Given the description of an element on the screen output the (x, y) to click on. 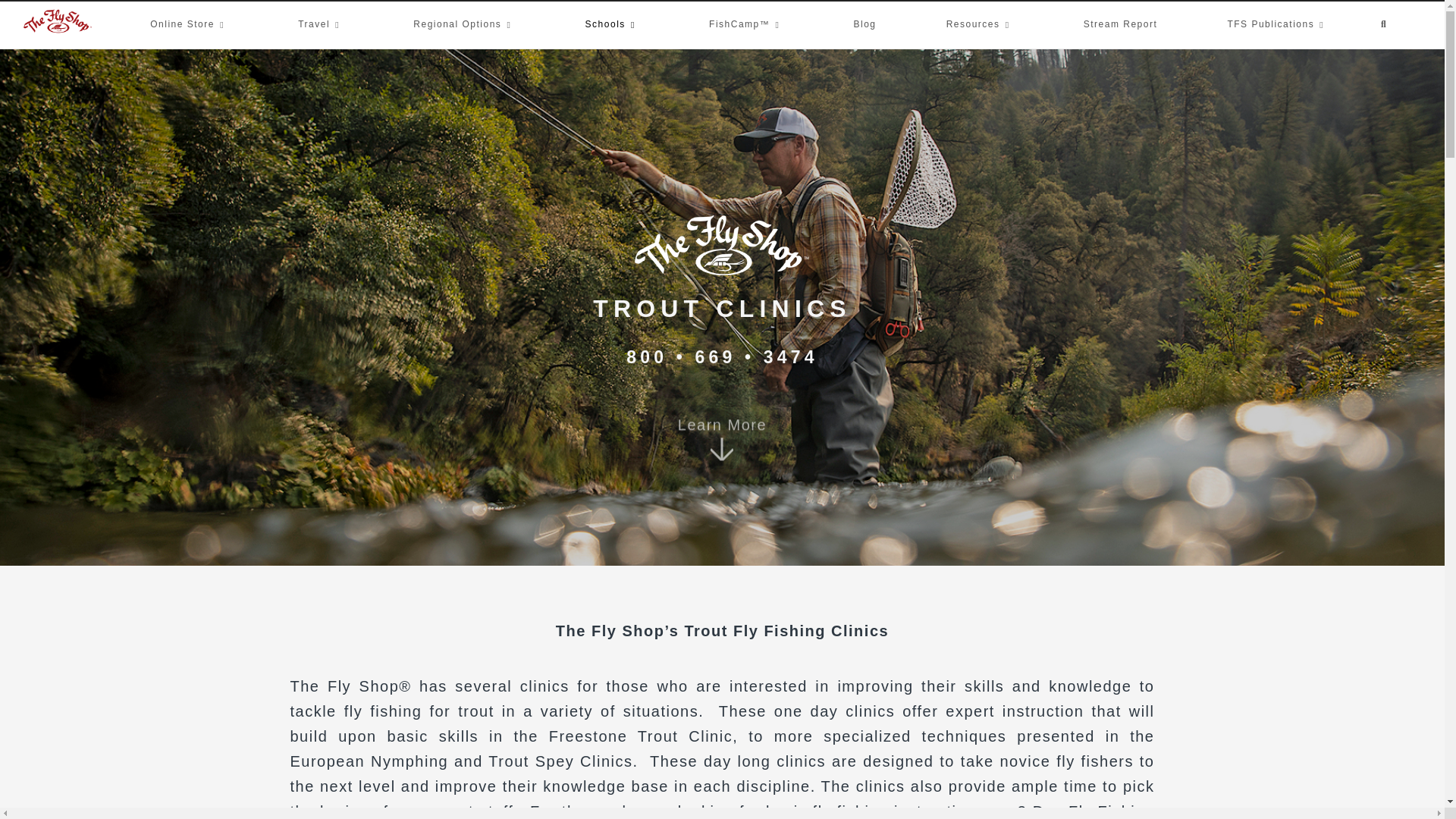
Online Store (189, 24)
Travel (320, 24)
THE FLY SHOP (1208, 36)
Sections Logo (721, 245)
